Given the description of an element on the screen output the (x, y) to click on. 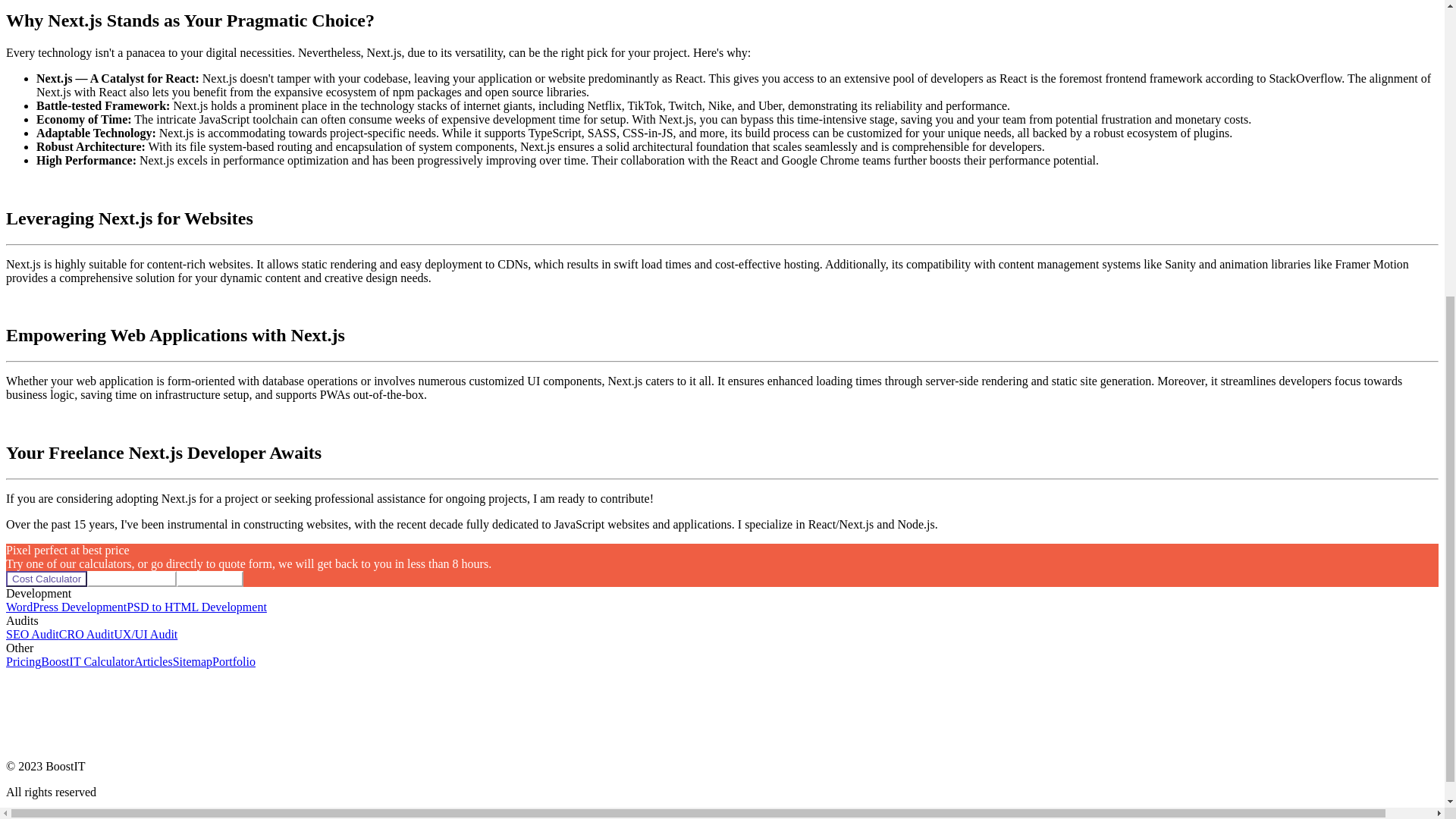
CRO Audit (86, 634)
Cost Calculator (46, 577)
Get in touch (209, 577)
Sitemap (192, 661)
Pricing packages (131, 577)
WordPress Development (65, 606)
Cost Calculator (46, 578)
BoostIT Calculator (86, 661)
Portfolio (234, 661)
Pricing packages (131, 578)
SEO Audit (32, 634)
Get in touch (209, 578)
Articles (153, 661)
Pricing (22, 661)
PSD to HTML Development (196, 606)
